Given the description of an element on the screen output the (x, y) to click on. 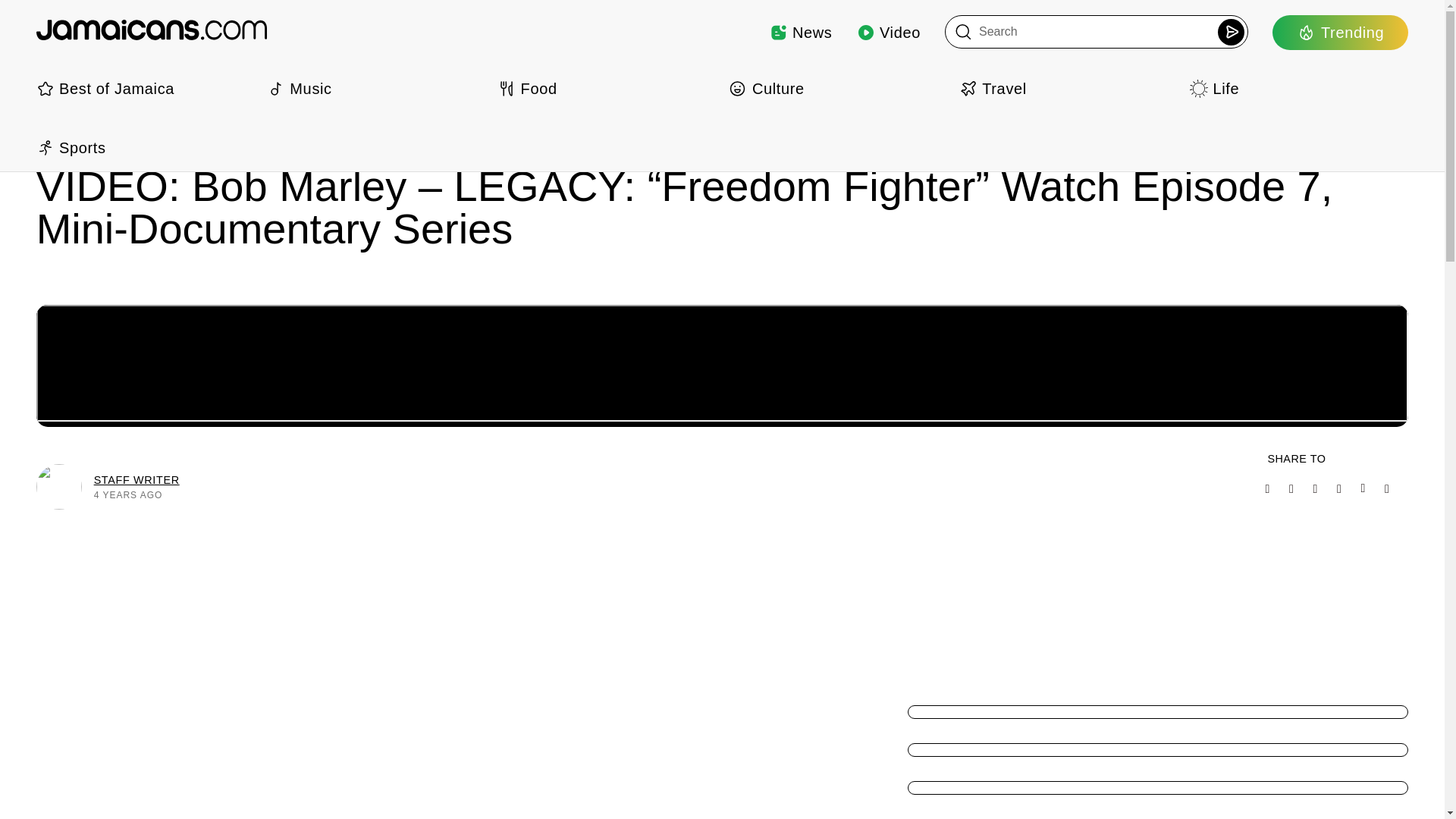
News (800, 32)
Life (1298, 88)
Trending (1339, 32)
Travel (1068, 88)
Sports (145, 147)
STAFF WRITER (136, 479)
Music (375, 88)
Food (606, 88)
Best of Jamaica (145, 88)
Culture (837, 88)
